Given the description of an element on the screen output the (x, y) to click on. 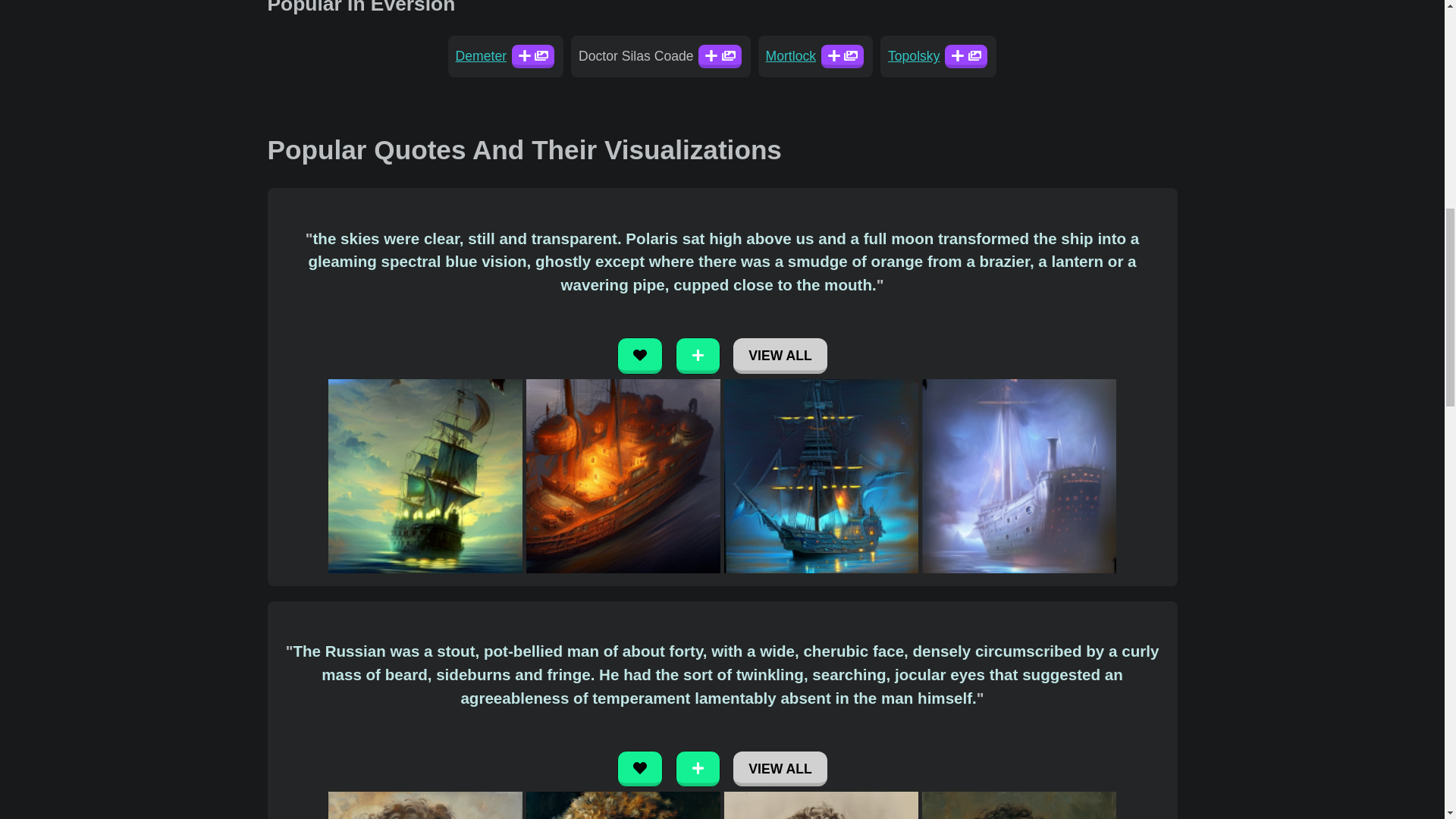
Generate More Images (697, 769)
Generate More Images (533, 56)
Generate More Images (842, 56)
Generate More Images (965, 56)
VIEW ALL (780, 768)
Mortlock (790, 55)
Generate More Images (697, 355)
Topolsky (913, 55)
Demeter (480, 55)
